Given the description of an element on the screen output the (x, y) to click on. 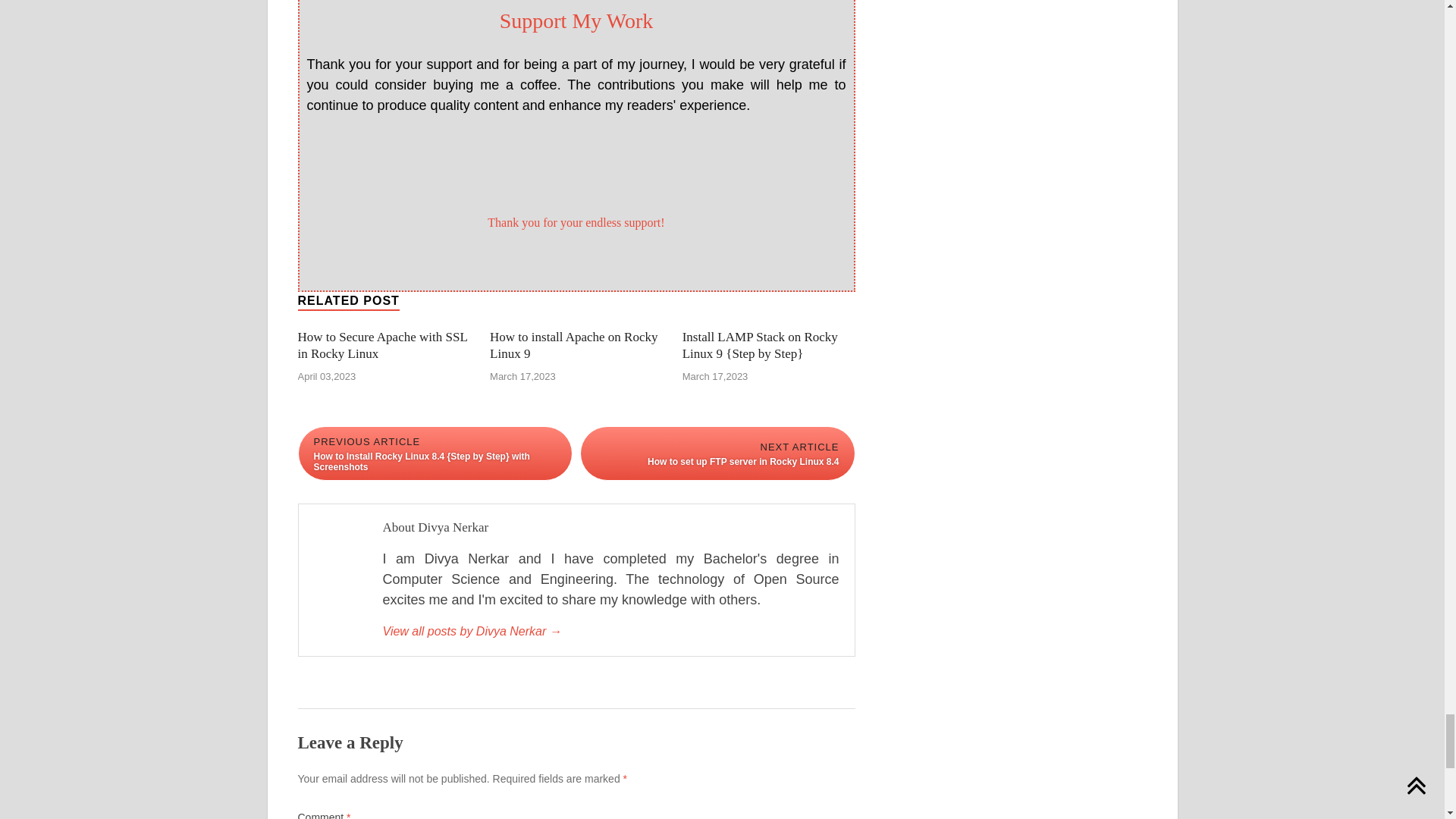
How to Secure Apache with SSL in Rocky Linux (382, 345)
How to Set up Anonymous FTP in Rocky Linux 8.4 11 (574, 165)
